Given the description of an element on the screen output the (x, y) to click on. 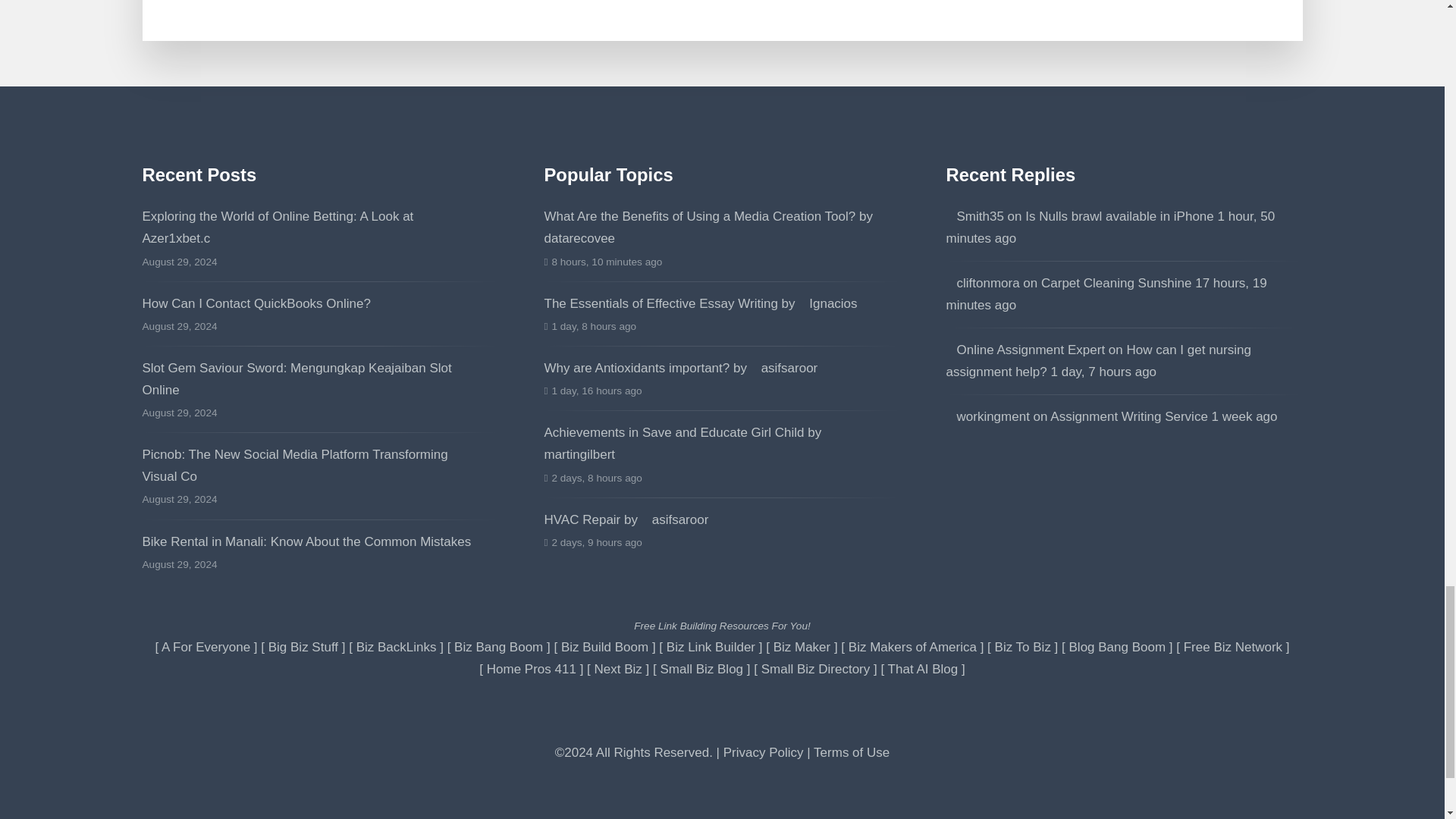
View datarecovee's profile (715, 227)
View Smith35's profile (975, 216)
View martingilbert's profile (689, 443)
View Ignacios's profile (827, 303)
View workingment's profile (987, 416)
View cliftonmora's profile (983, 283)
View asifsaroor's profile (675, 519)
View Online Assignment Expert's profile (1025, 350)
Big Biz Stuff - FREE Link building. (302, 646)
A For Everyone - FREE Link building. (205, 646)
